Given the description of an element on the screen output the (x, y) to click on. 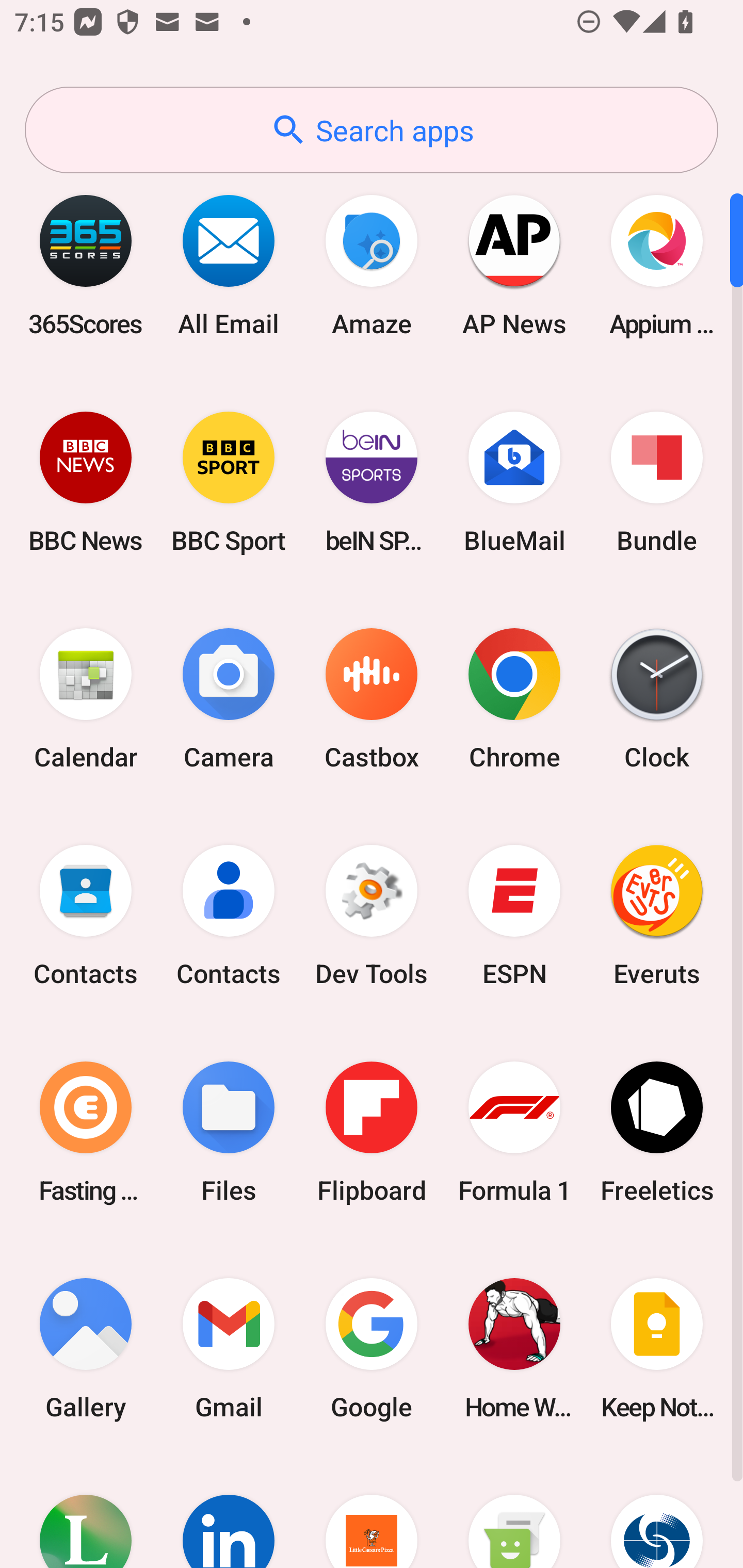
  Search apps (371, 130)
365Scores (85, 264)
All Email (228, 264)
Amaze (371, 264)
AP News (514, 264)
Appium Settings (656, 264)
BBC News (85, 482)
BBC Sport (228, 482)
beIN SPORTS (371, 482)
BlueMail (514, 482)
Bundle (656, 482)
Calendar (85, 699)
Camera (228, 699)
Castbox (371, 699)
Chrome (514, 699)
Clock (656, 699)
Contacts (85, 915)
Contacts (228, 915)
Dev Tools (371, 915)
ESPN (514, 915)
Everuts (656, 915)
Fasting Coach (85, 1131)
Files (228, 1131)
Flipboard (371, 1131)
Formula 1 (514, 1131)
Freeletics (656, 1131)
Gallery (85, 1348)
Gmail (228, 1348)
Google (371, 1348)
Home Workout (514, 1348)
Keep Notes (656, 1348)
